Given the description of an element on the screen output the (x, y) to click on. 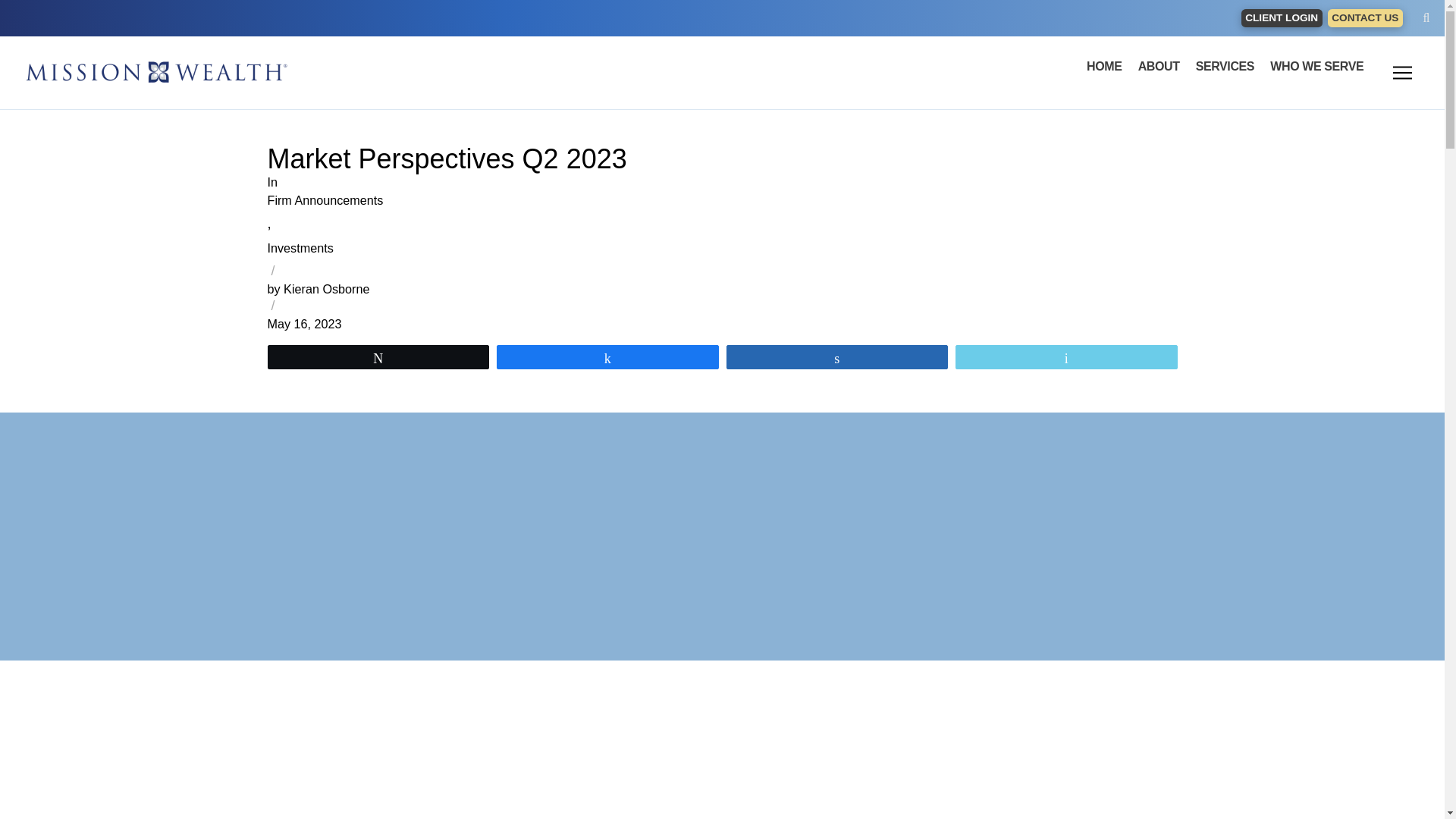
ABOUT (1158, 66)
CONTACT US (1365, 18)
WHO WE SERVE (1316, 66)
Firm Announcements (324, 200)
CLIENT LOGIN (1281, 18)
SERVICES (1225, 66)
Investments (299, 247)
